Given the description of an element on the screen output the (x, y) to click on. 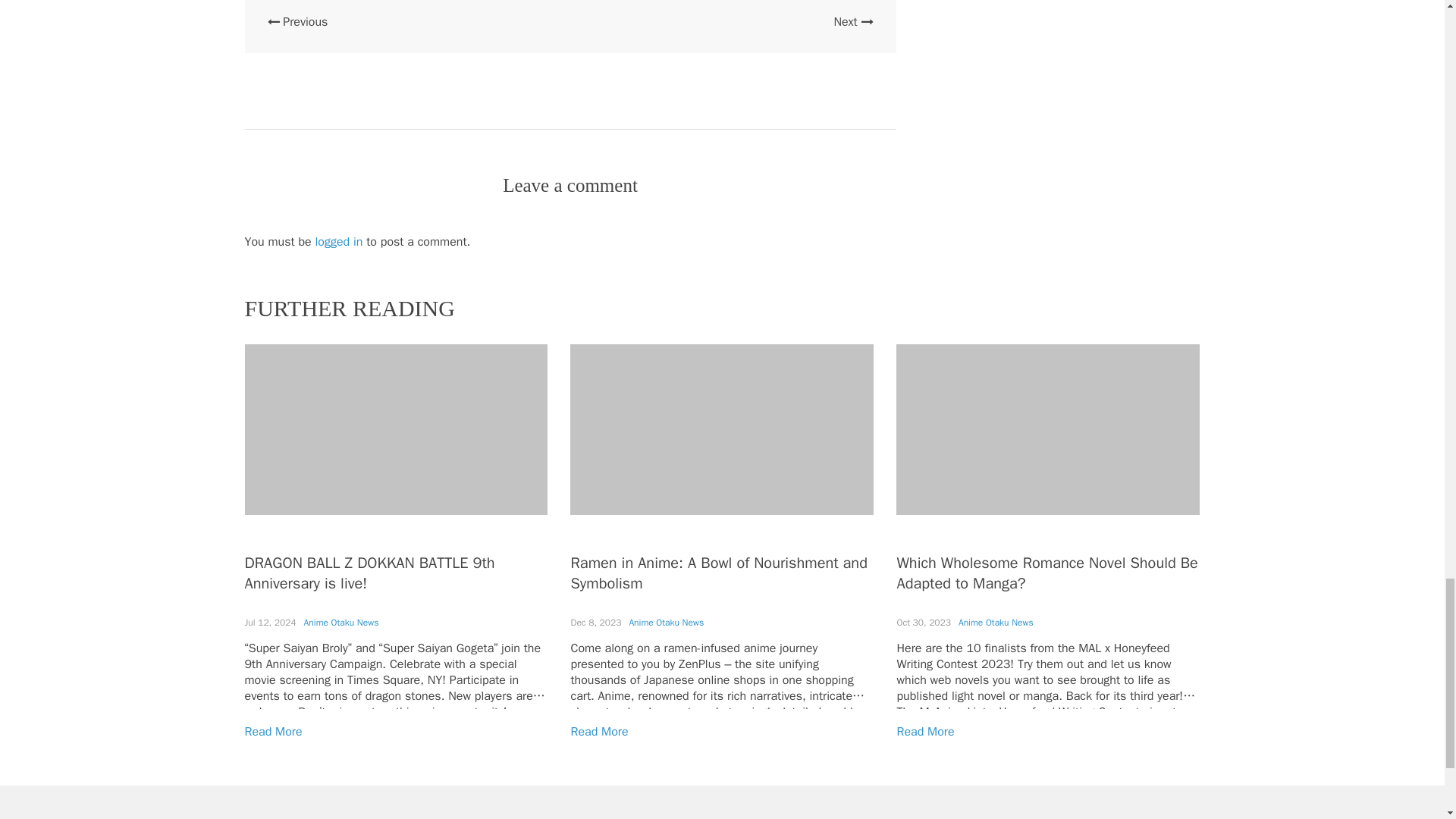
Previous (296, 21)
logged in (338, 241)
Read More (924, 731)
DRAGON BALL Z DOKKAN BATTLE 9th Anniversary is live! (369, 572)
Read More (272, 731)
Next (852, 21)
Anime Otaku News (995, 622)
Ramen in Anime: A Bowl of Nourishment and Symbolism (718, 572)
Read More (598, 731)
Which Wholesome Romance Novel Should Be Adapted to Manga? (1046, 572)
Anime Otaku News (665, 622)
Anime Otaku News (341, 622)
